Given the description of an element on the screen output the (x, y) to click on. 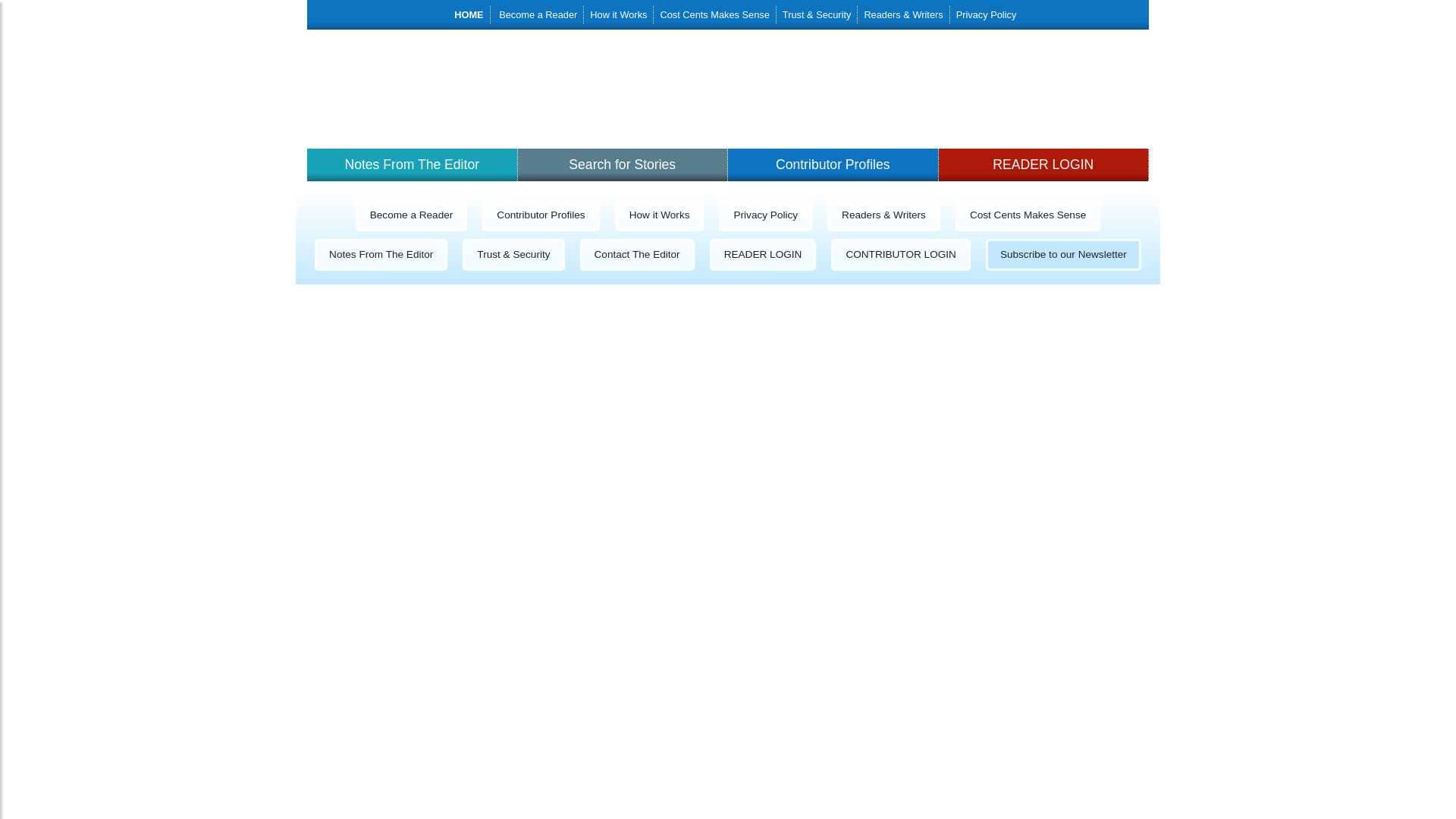
 HOME (467, 14)
Privacy Policy (986, 14)
Become a Reader (411, 215)
Notes From The Editor (412, 164)
Contributor Profiles (833, 164)
Cost Cents Makes Sense (714, 14)
Privacy Policy (764, 215)
Search for Stories (622, 164)
How it Works (618, 14)
Contributor Profiles (540, 215)
